Given the description of an element on the screen output the (x, y) to click on. 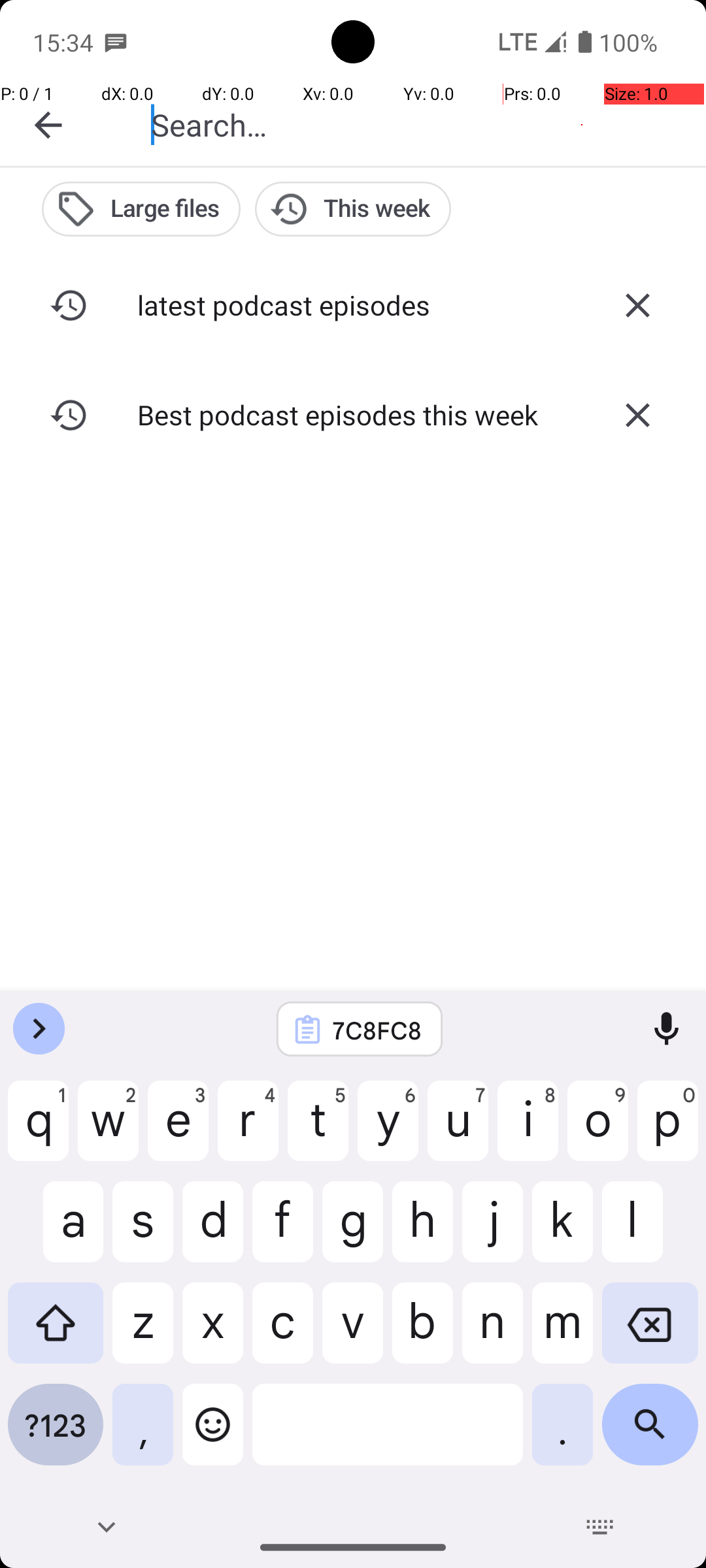
latest podcast episodes Element type: android.widget.TextView (352, 304)
Delete search history latest podcast episodes Element type: android.widget.ImageView (637, 304)
Best podcast episodes this week Element type: android.widget.TextView (352, 414)
Delete search history Best podcast episodes this week Element type: android.widget.ImageView (637, 414)
